Given the description of an element on the screen output the (x, y) to click on. 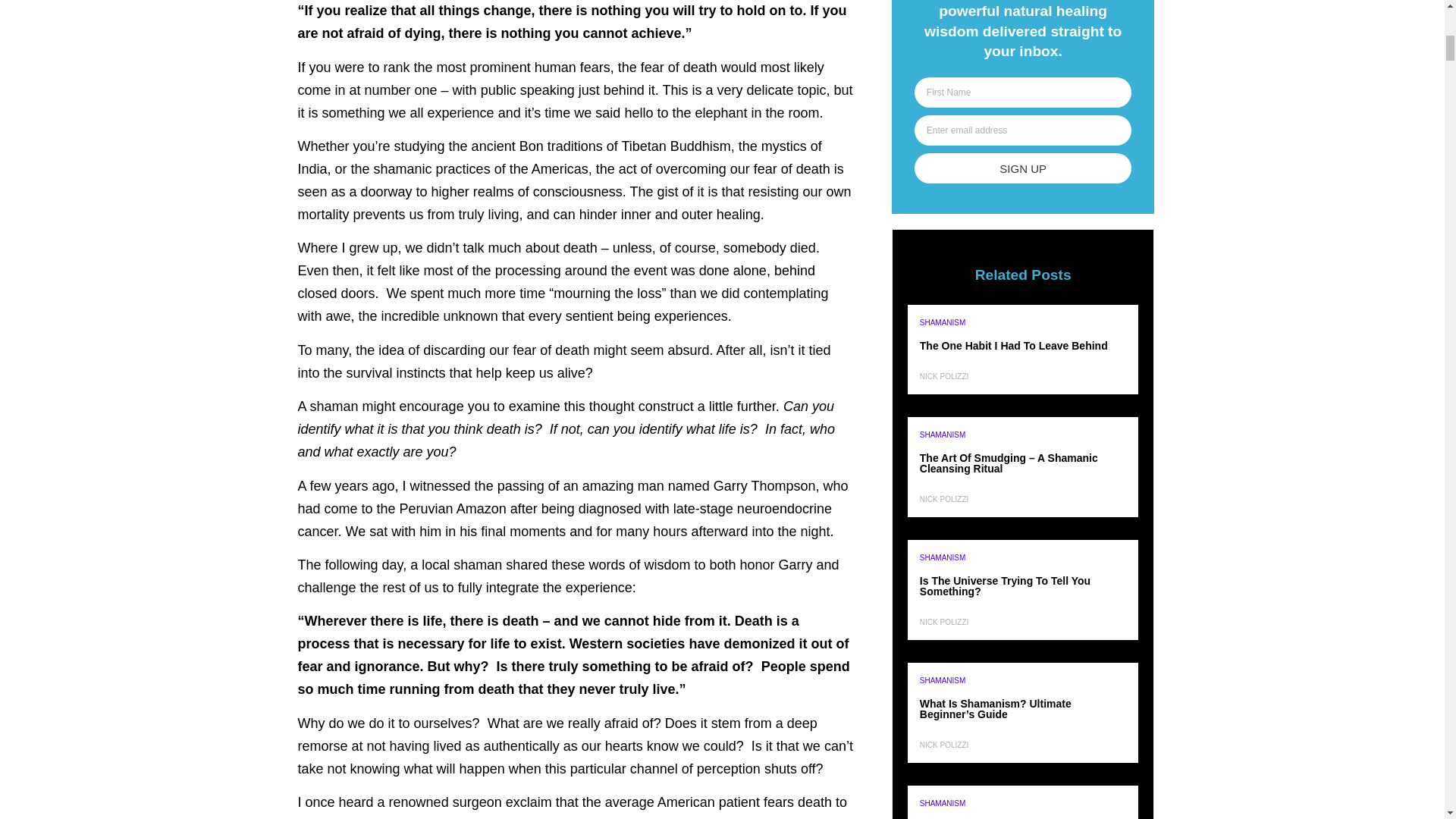
NICK POLIZZI (944, 622)
SHAMANISM (943, 434)
NICK POLIZZI (944, 499)
NICK POLIZZI (944, 376)
SHAMANISM (943, 557)
SIGN UP (1023, 168)
SHAMANISM (943, 322)
